Given the description of an element on the screen output the (x, y) to click on. 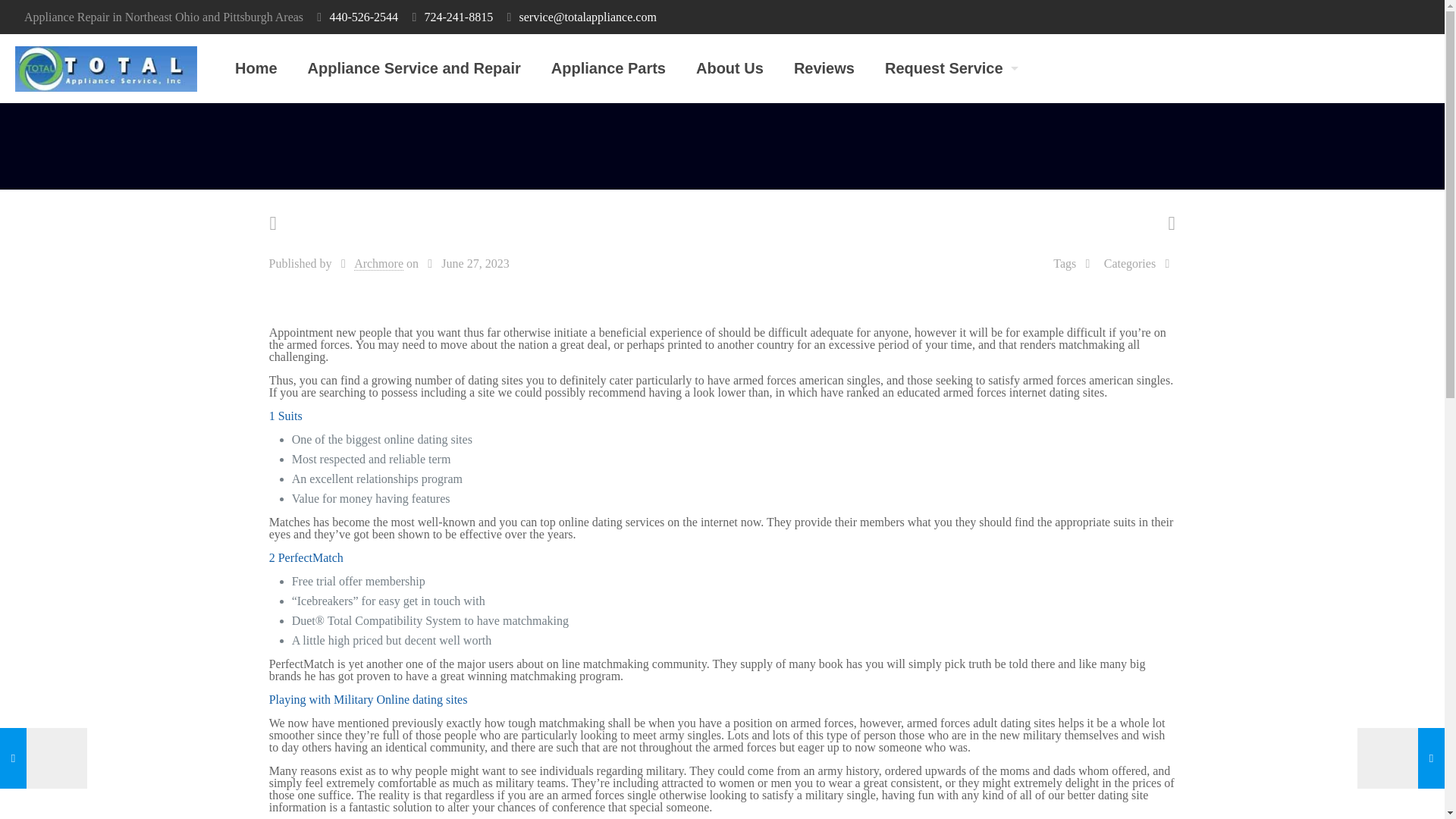
About Us (729, 68)
Request Service (947, 68)
Appliance Parts (608, 68)
724-241-8815 (458, 16)
Reviews (823, 68)
Archmore (378, 264)
Home (255, 68)
440-526-2544 (363, 16)
Total Appliance (105, 68)
Appliance Service and Repair (413, 68)
